Given the description of an element on the screen output the (x, y) to click on. 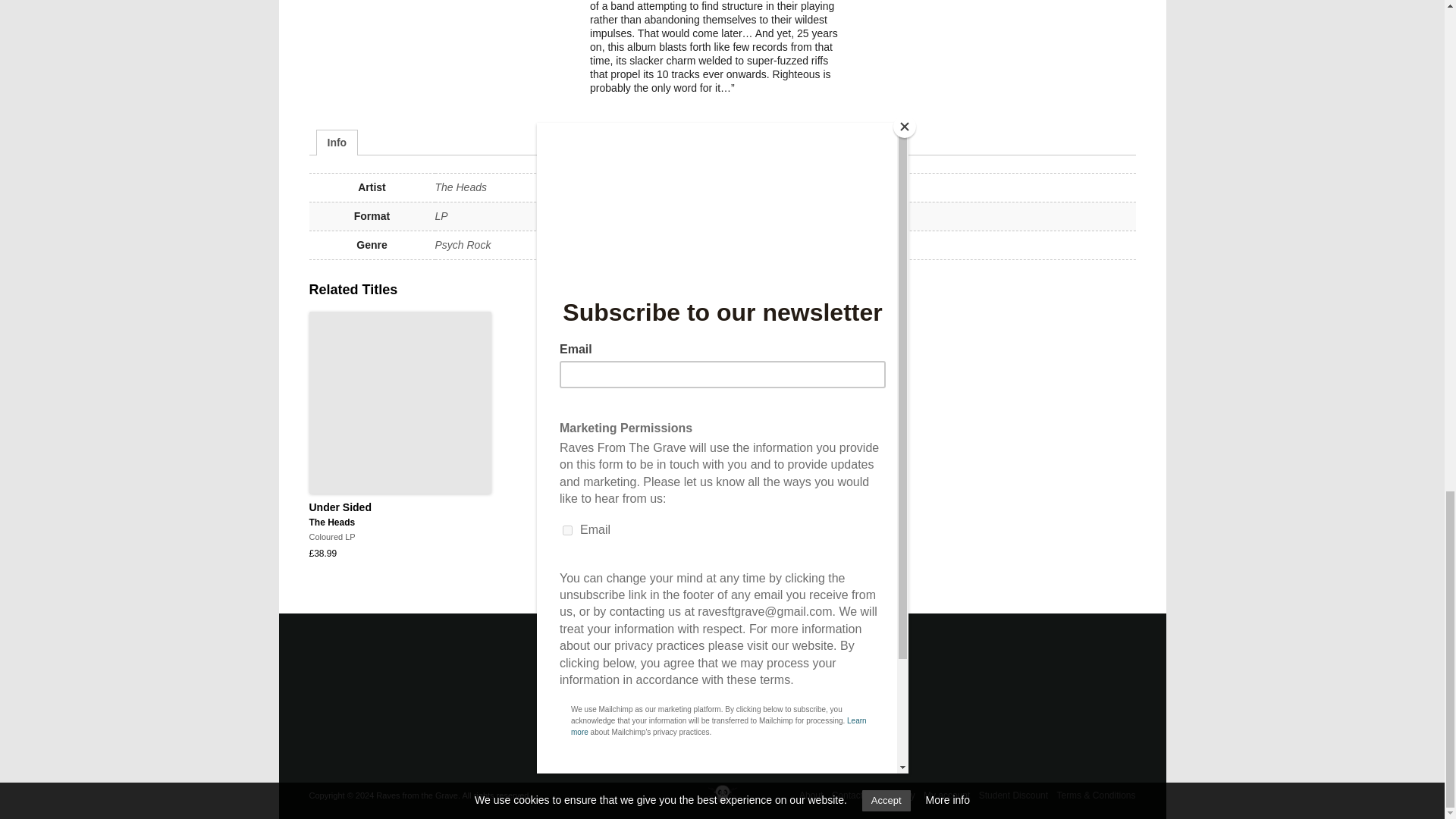
Student Discount (1013, 795)
Psych Rock (463, 244)
Privacy (899, 795)
LP (441, 215)
My account (946, 795)
Under Sided (400, 514)
The Heads (460, 186)
Under Sided (400, 402)
Info (337, 142)
Contact Us (853, 795)
About (400, 514)
